Given the description of an element on the screen output the (x, y) to click on. 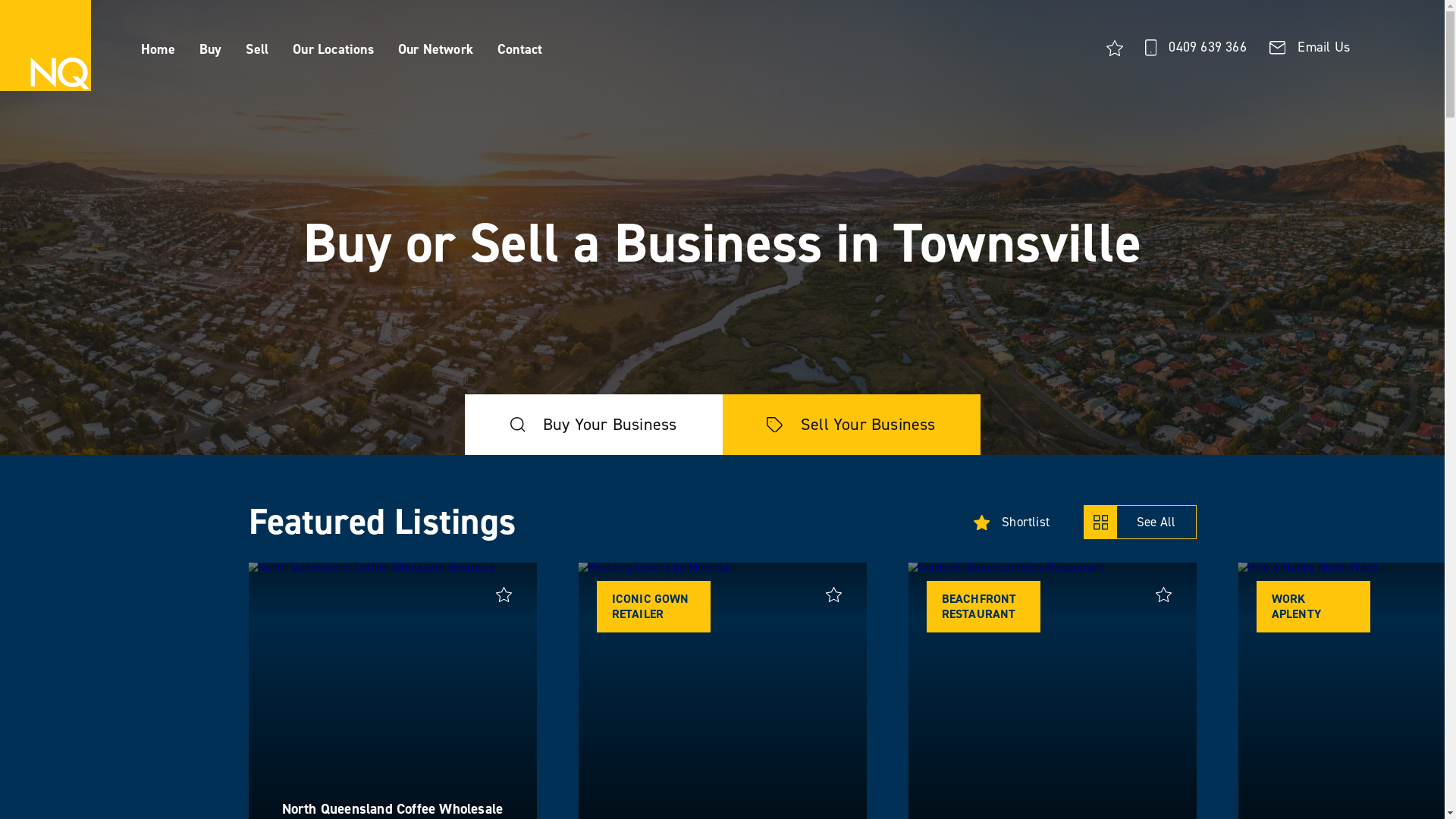
Our Locations Element type: text (332, 49)
See All Element type: text (1139, 522)
Shortlist Element type: text (1011, 522)
Sell Your Business Element type: text (850, 424)
Email Us Element type: text (1309, 47)
0409 639 366 Element type: text (1195, 47)
Buy Your Business Element type: text (592, 424)
Buy Element type: text (210, 49)
Sell Element type: text (256, 49)
Contact Element type: text (519, 49)
Our Network Element type: text (435, 49)
Home Element type: text (158, 49)
